Given the description of an element on the screen output the (x, y) to click on. 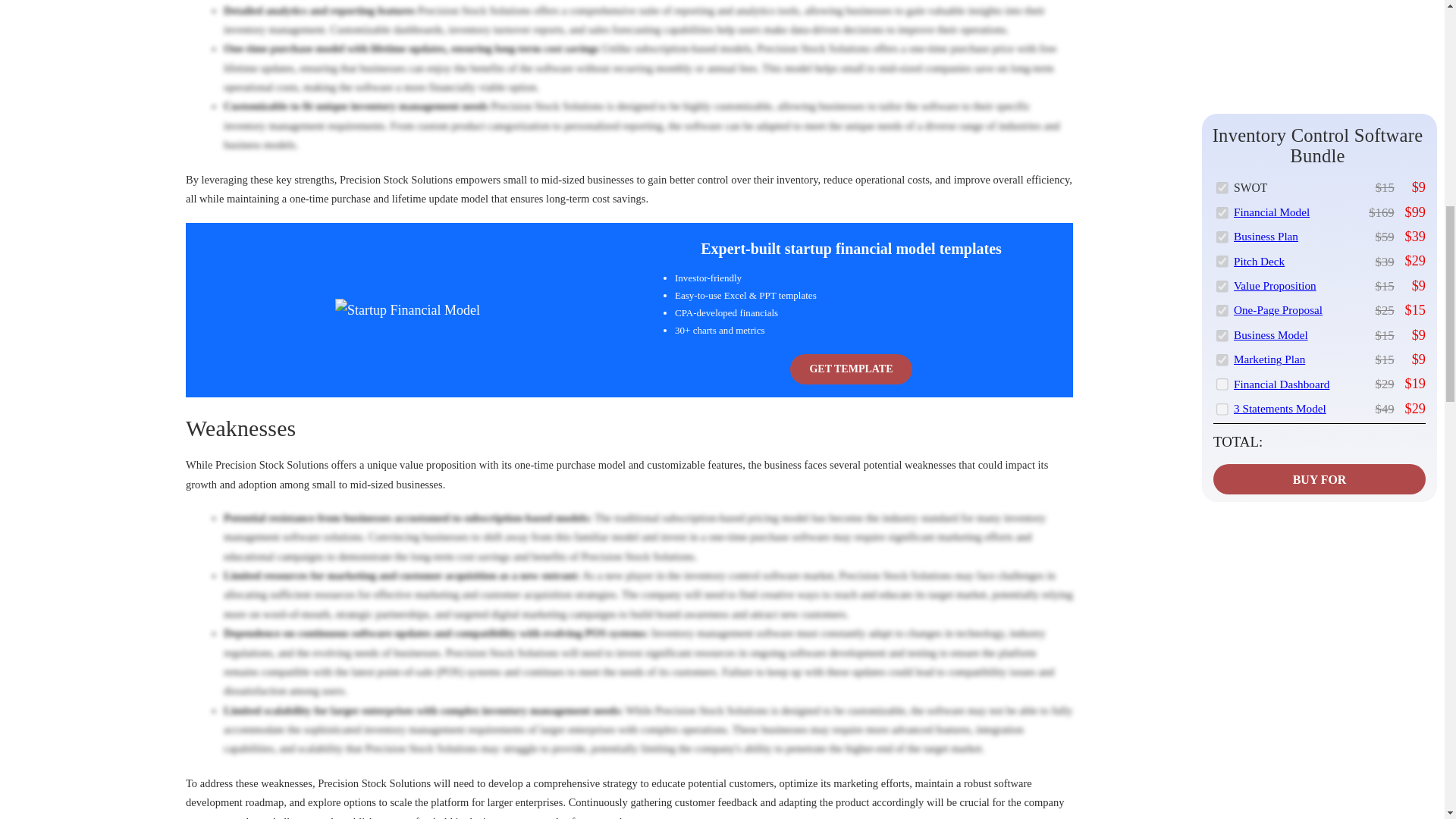
GET TEMPLATE (850, 368)
